Given the description of an element on the screen output the (x, y) to click on. 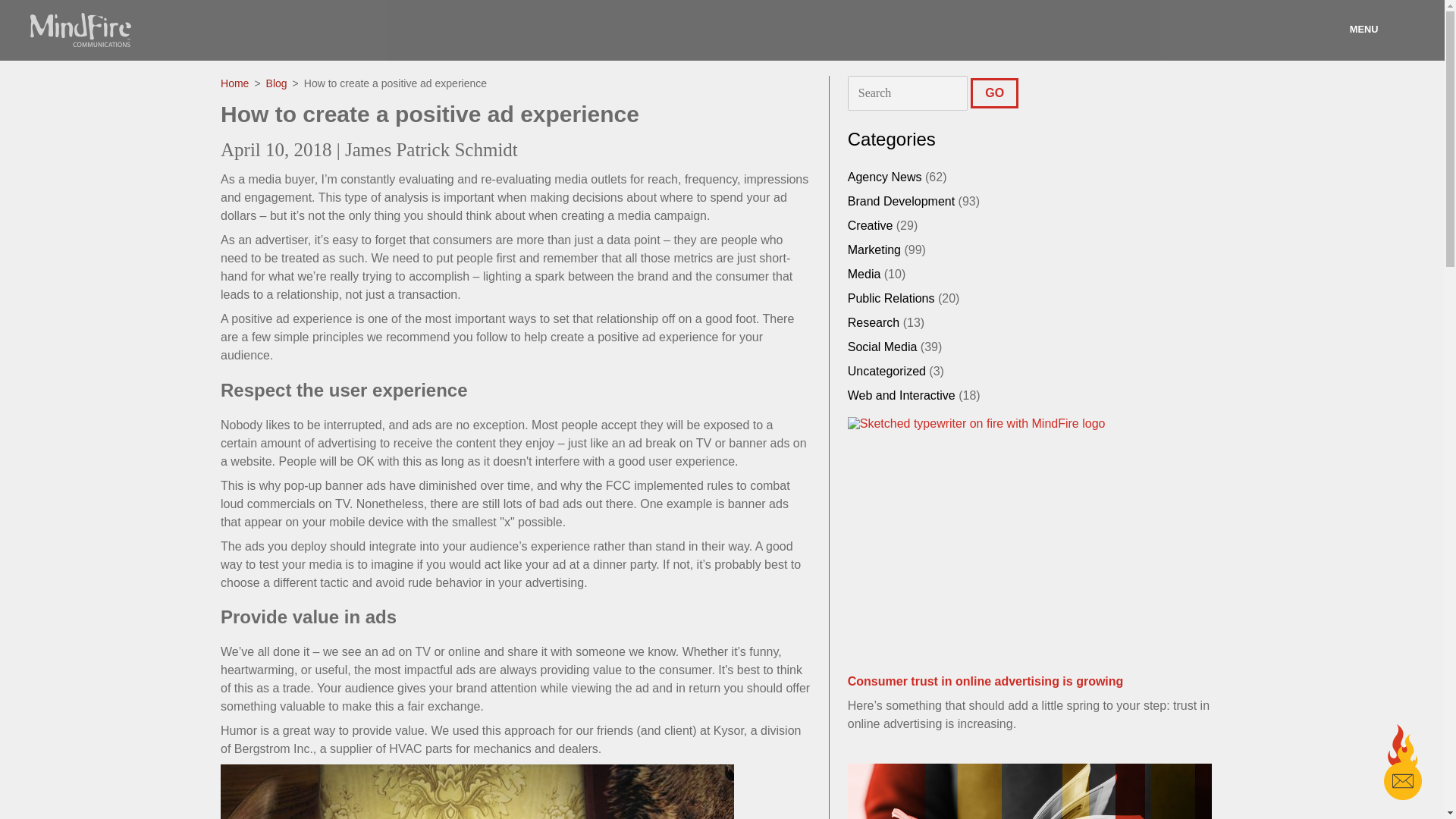
Home (234, 82)
Agency News (884, 176)
Media (863, 273)
Web and Interactive (901, 395)
Consumer trust in online advertising is growing (1029, 553)
Selecting media metrics that matter (1029, 791)
GO (994, 92)
Uncategorized (886, 370)
Creative (870, 225)
Public Relations (890, 297)
